Given the description of an element on the screen output the (x, y) to click on. 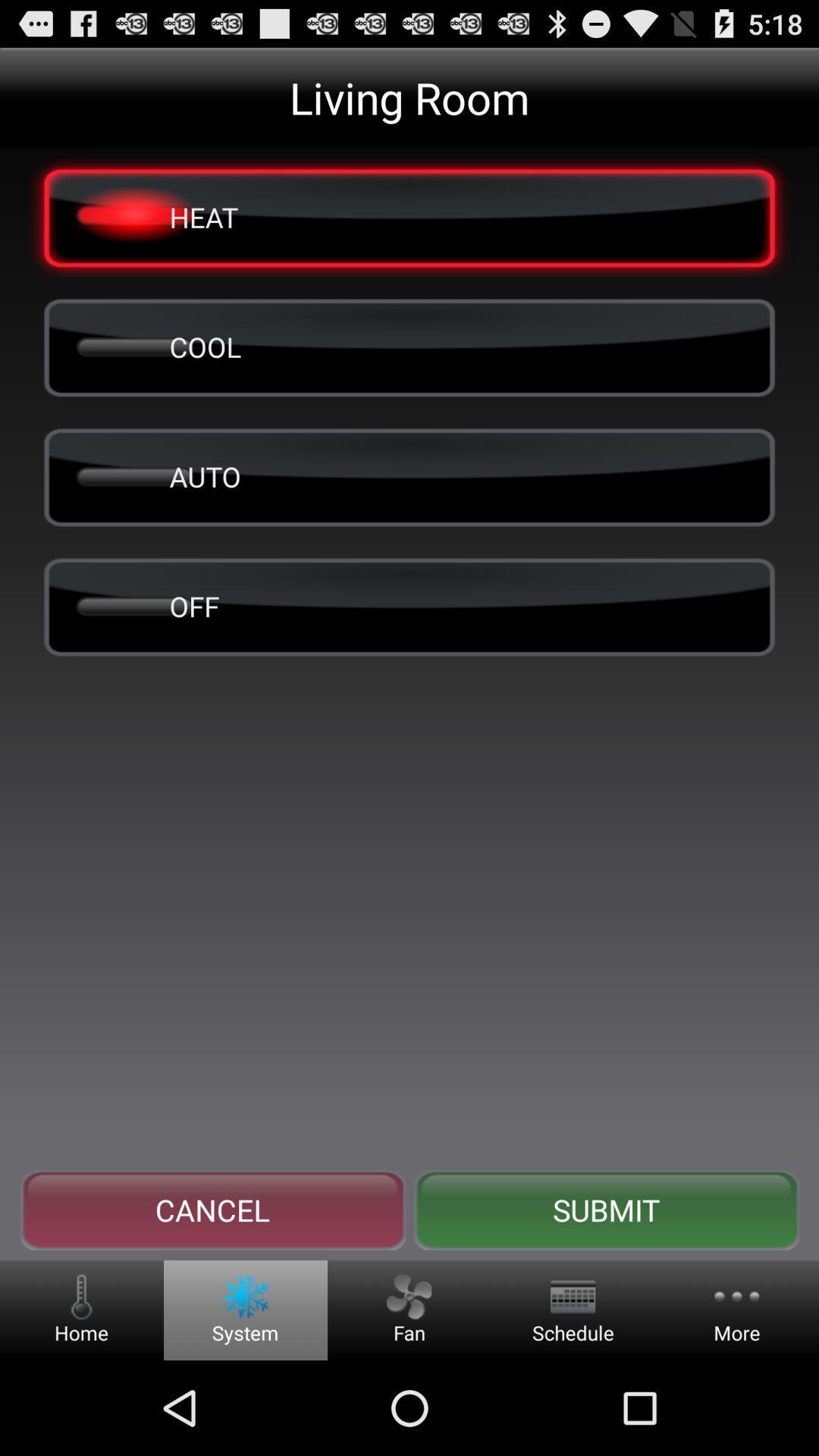
select button next to submit icon (212, 1210)
